Given the description of an element on the screen output the (x, y) to click on. 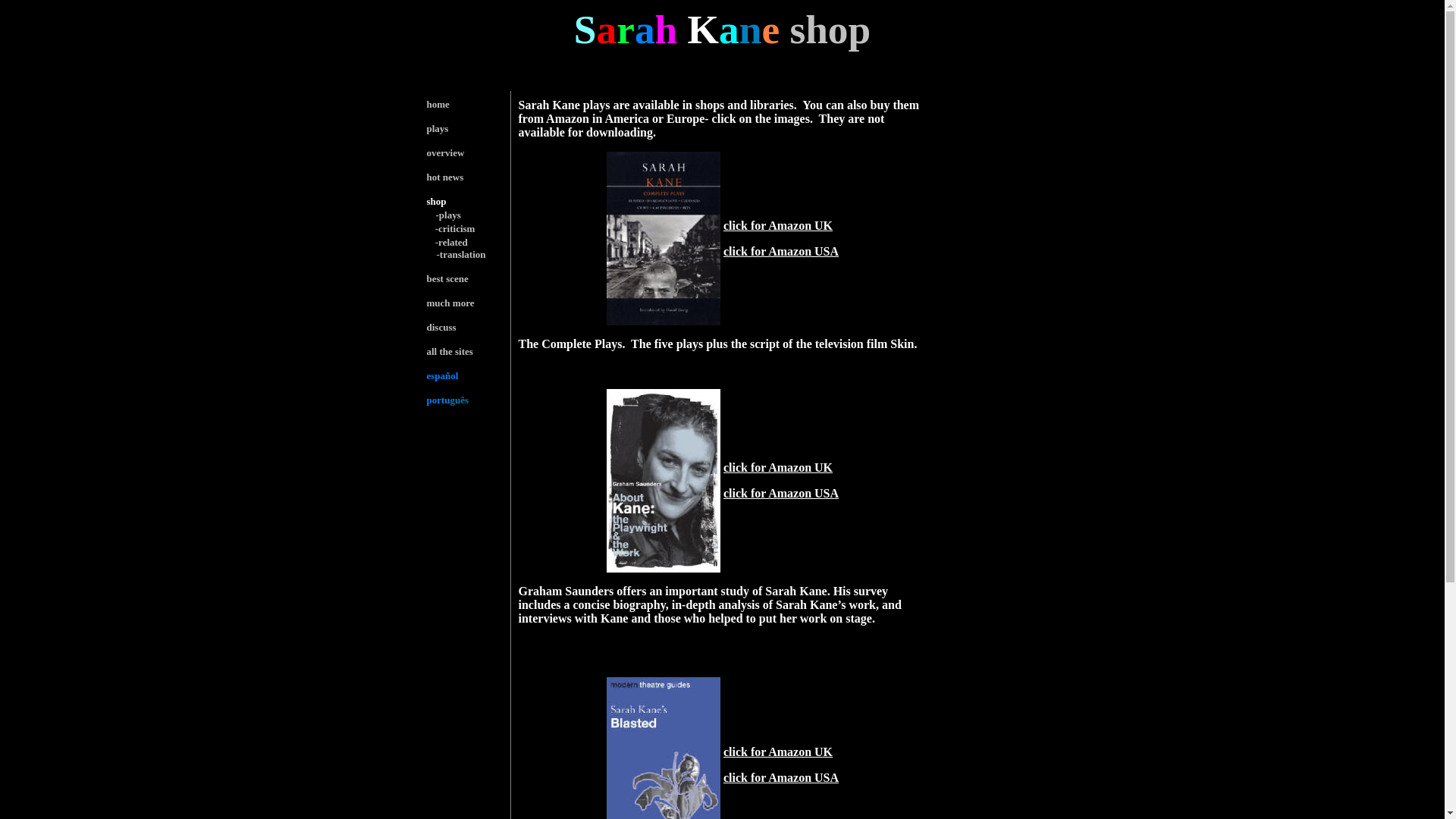
much more (450, 302)
all the sites (448, 351)
shop (435, 201)
hot news (444, 176)
related (452, 241)
click for Amazon USA (780, 776)
best scene (446, 278)
-plays (447, 214)
plays (437, 128)
home (437, 103)
